Given the description of an element on the screen output the (x, y) to click on. 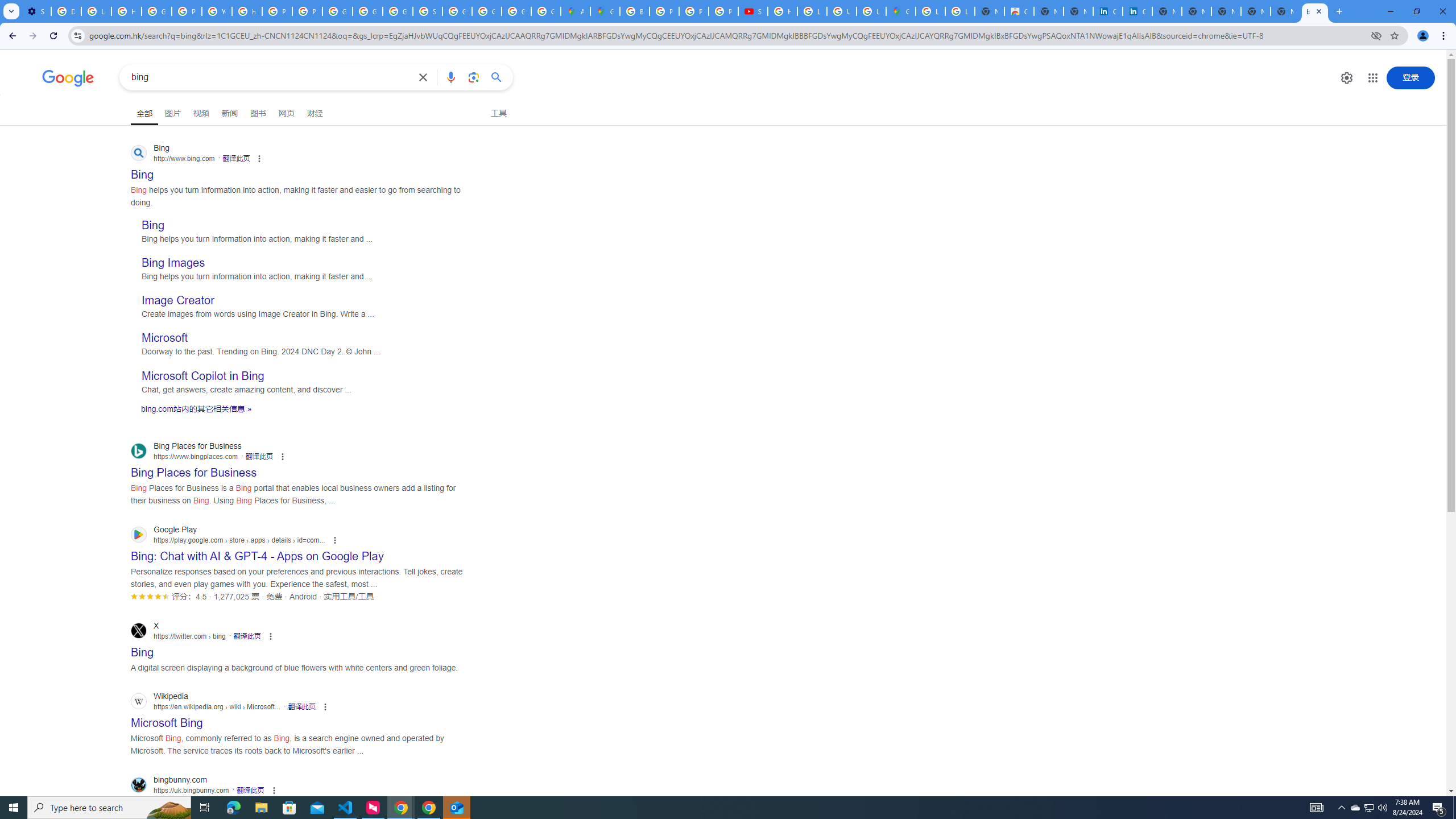
Google (68, 78)
 Bing Bing http://www.bing.com (142, 171)
Privacy Help Center - Policies Help (664, 11)
Delete photos & videos - Computer - Google Photos Help (65, 11)
How Chrome protects your passwords - Google Chrome Help (782, 11)
Blogger Policies and Guidelines - Transparency Center (634, 11)
